Given the description of an element on the screen output the (x, y) to click on. 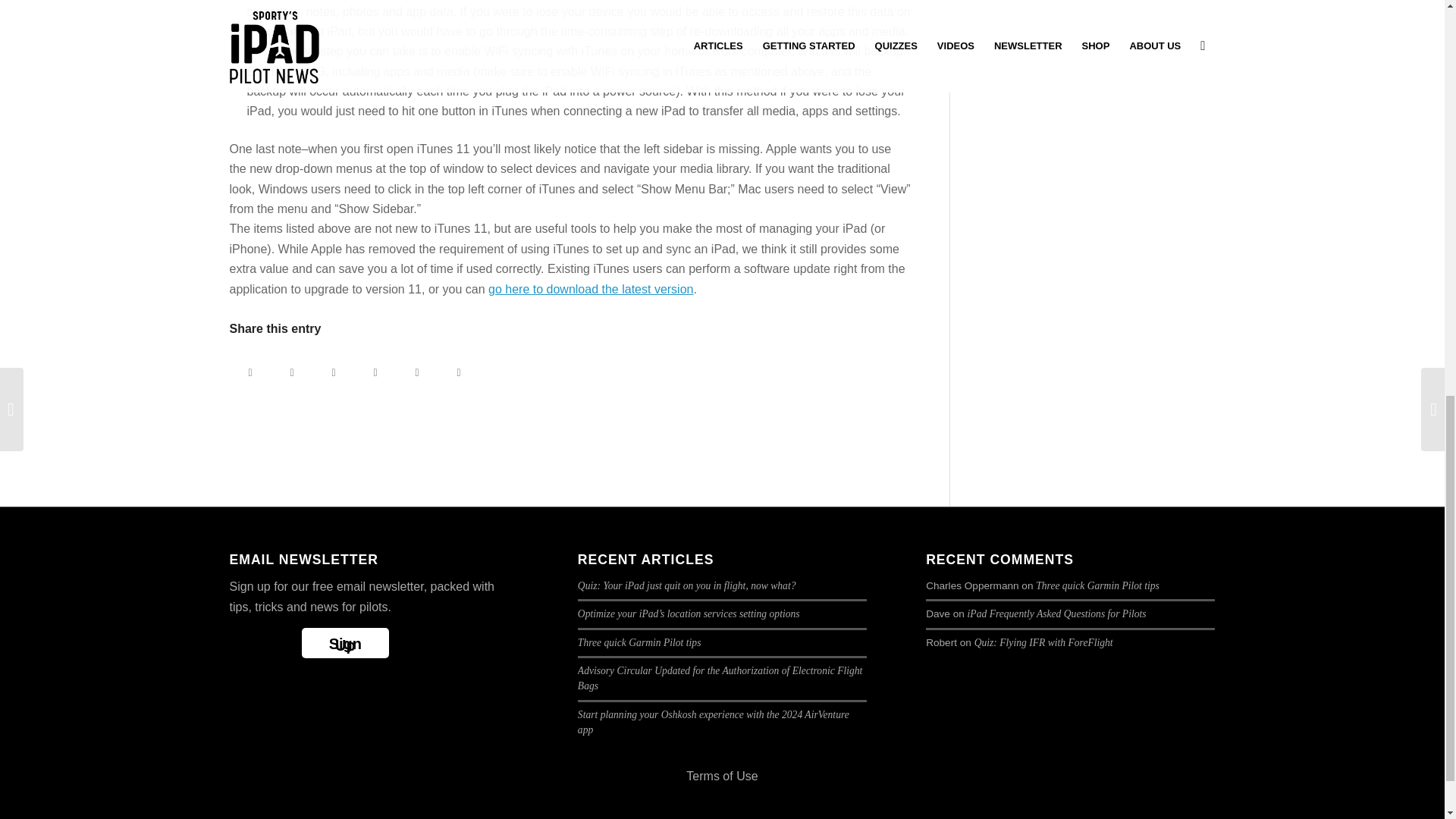
Sign Up (344, 643)
Quiz: Your iPad just quit on you in flight, now what? (687, 585)
iTunes download (590, 288)
go here to download the latest version (590, 288)
